Given the description of an element on the screen output the (x, y) to click on. 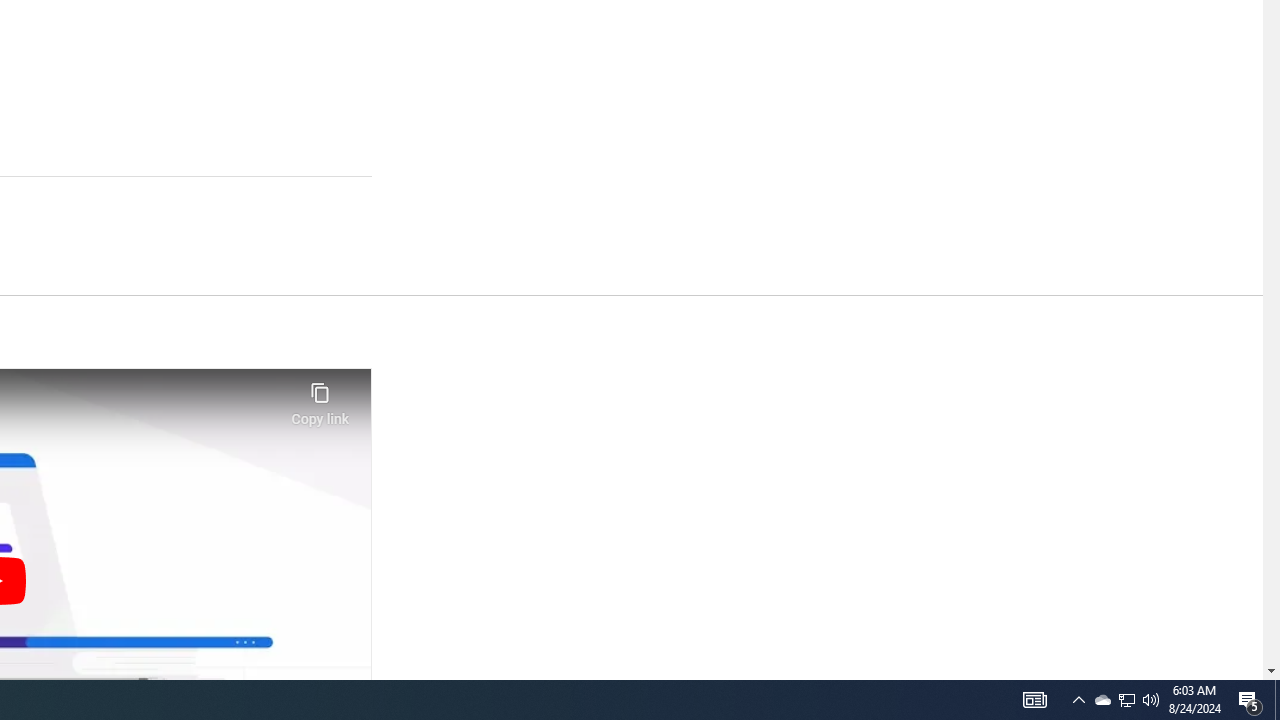
Copy link (319, 398)
